Given the description of an element on the screen output the (x, y) to click on. 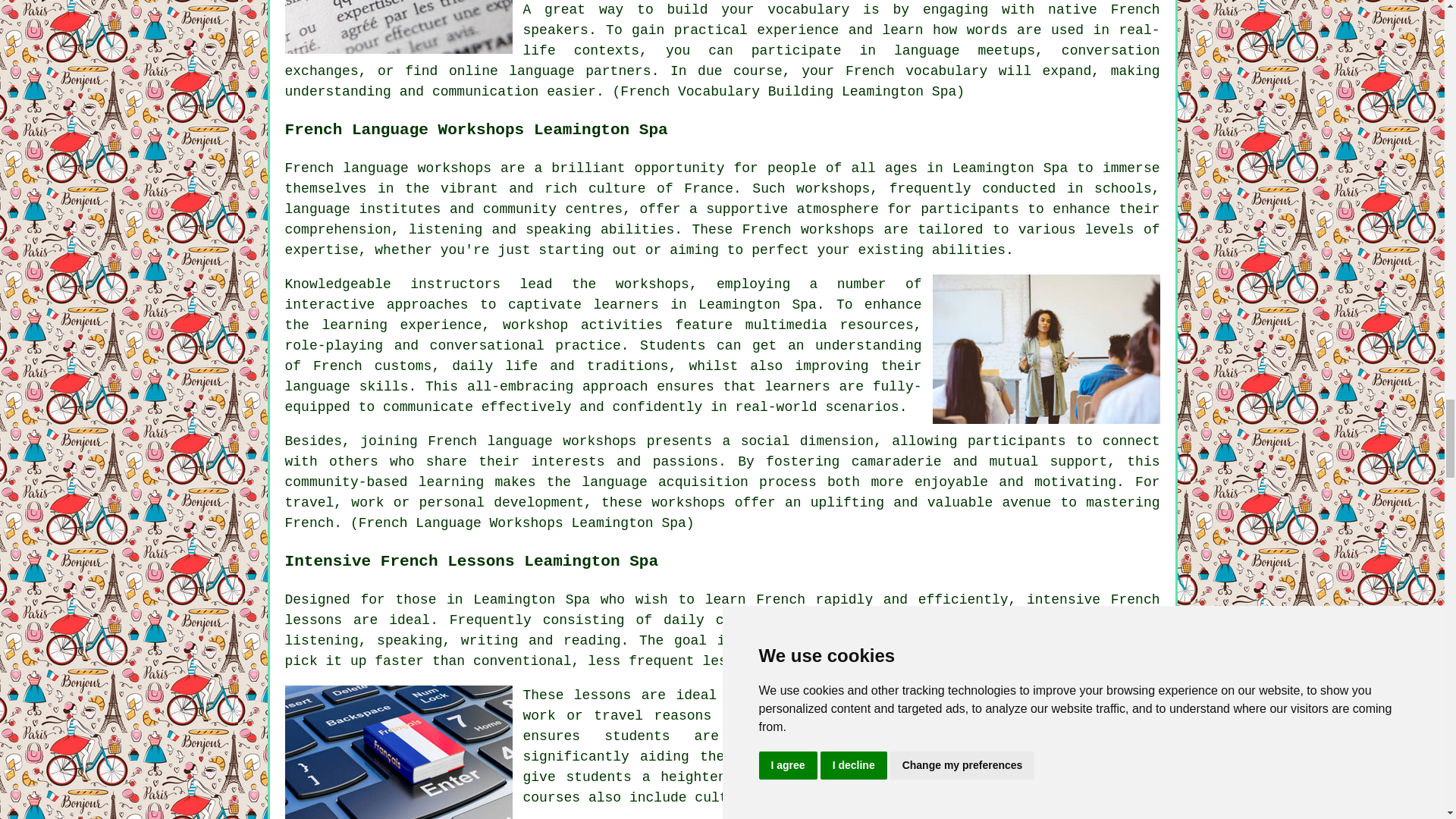
workshops (651, 283)
intensive French lessons (722, 610)
language workshops (561, 441)
French language workshops (388, 168)
French Language Workshops Leamington Spa (1046, 349)
French Vocabulary Building Leamington Spa (398, 27)
